Given the description of an element on the screen output the (x, y) to click on. 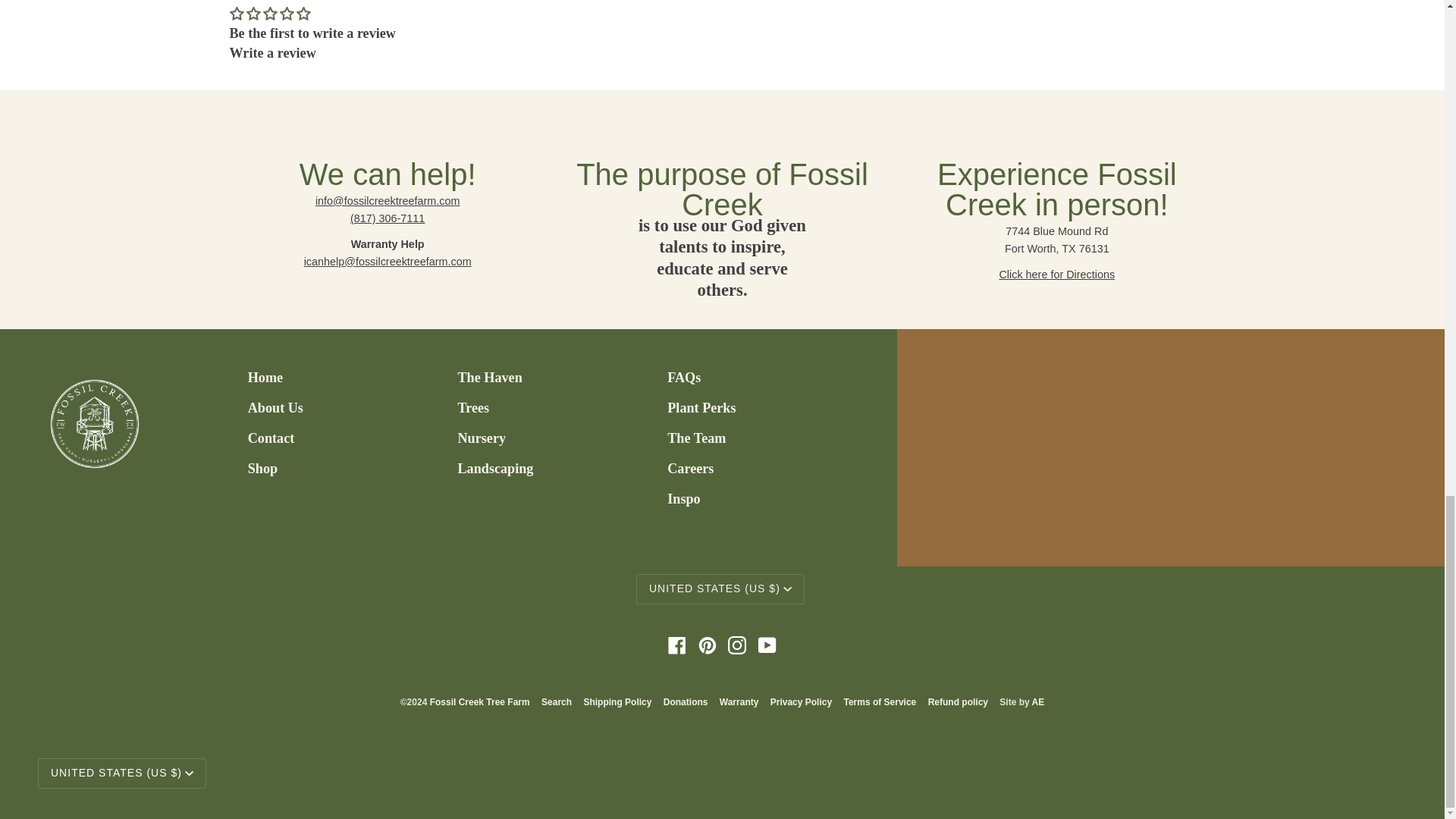
Pinterest (707, 644)
Instagram (736, 644)
YouTube (767, 644)
Facebook (676, 644)
